Given the description of an element on the screen output the (x, y) to click on. 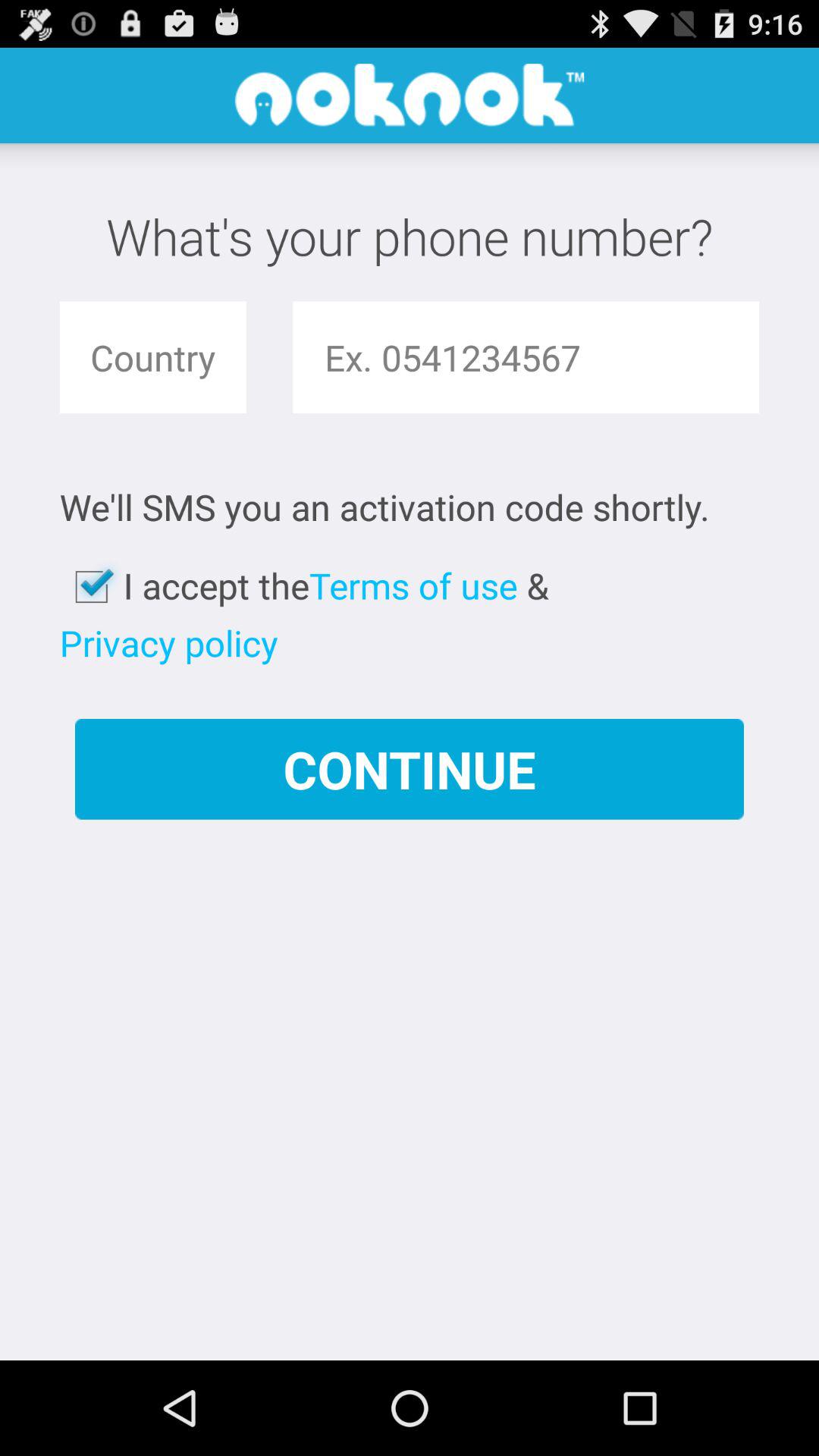
launch the app to the left of i accept the app (91, 586)
